Given the description of an element on the screen output the (x, y) to click on. 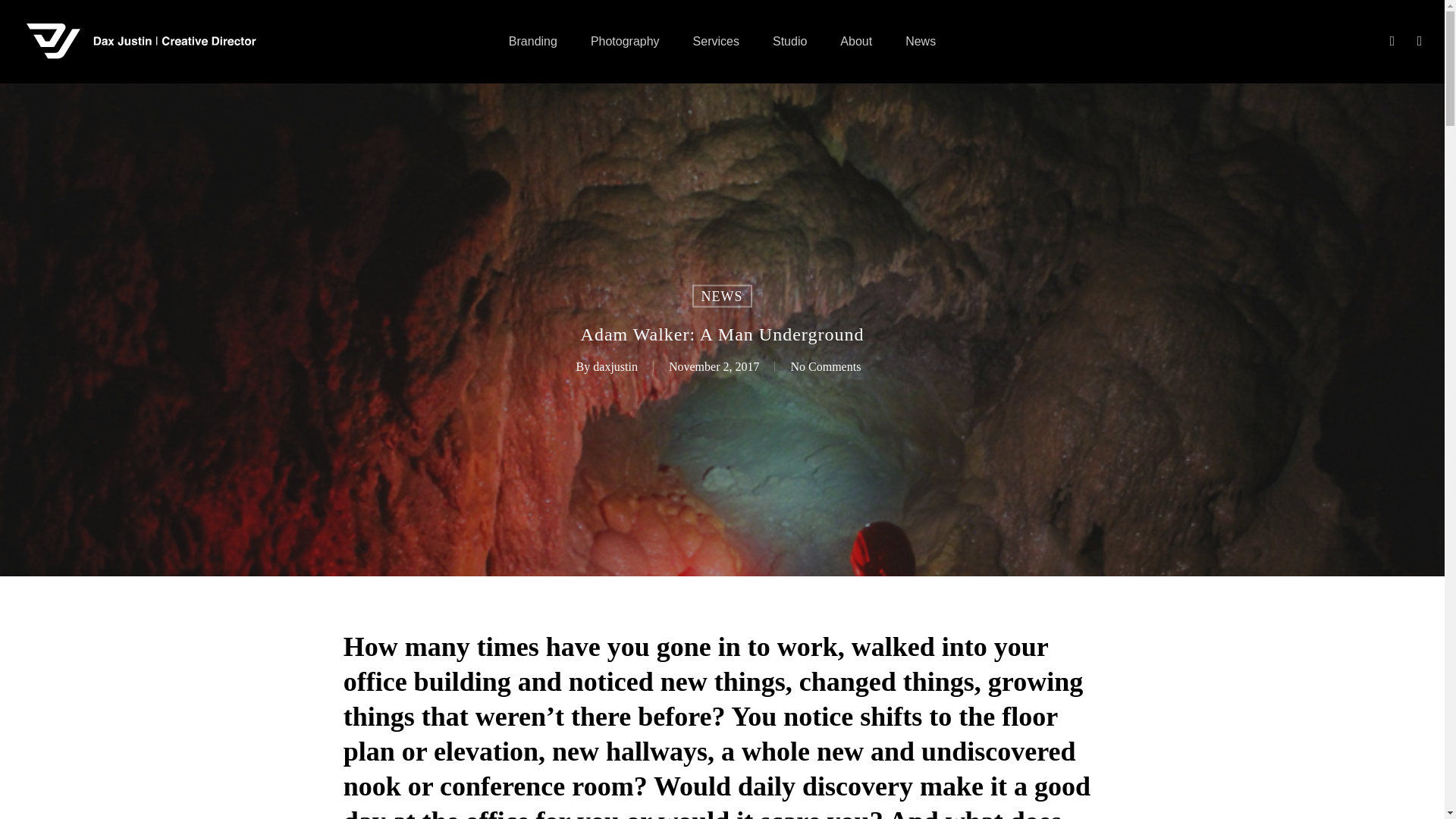
NEWS (721, 296)
Services (716, 41)
Studio (789, 41)
No Comments (825, 365)
daxjustin (614, 365)
News (920, 41)
About (856, 41)
Photography (625, 41)
Branding (532, 41)
Posts by daxjustin (614, 365)
